Given the description of an element on the screen output the (x, y) to click on. 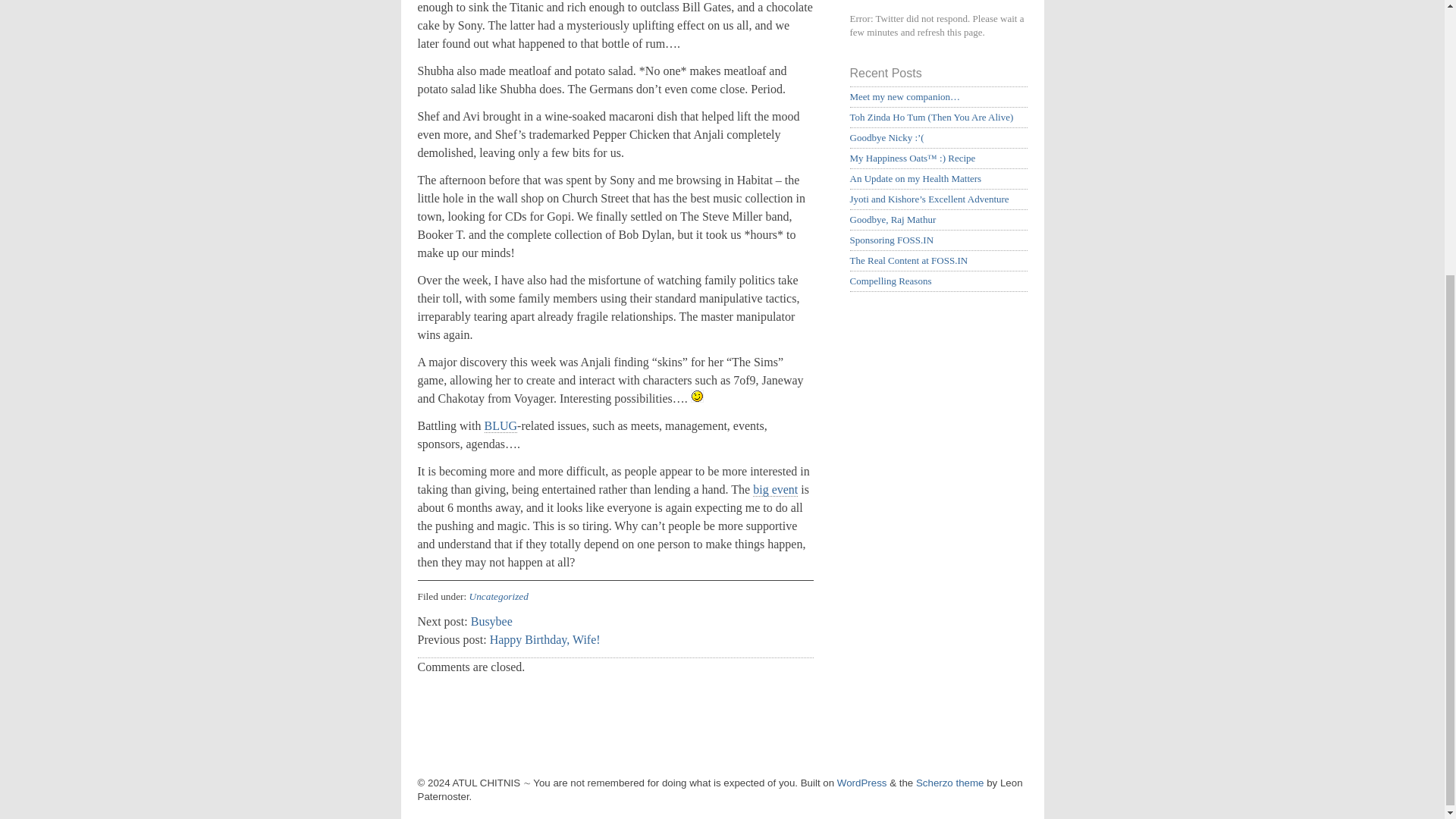
Sponsoring FOSS.IN (890, 239)
An Update on my Health Matters (914, 178)
Compelling Reasons (889, 280)
Goodbye, Raj Mathur (892, 219)
View all posts in Uncategorized (498, 595)
Goodbye, Raj Mathur (892, 219)
Compelling Reasons (889, 280)
The Real Content at FOSS.IN (908, 260)
big event (774, 489)
Scherzo theme (949, 782)
Happy Birthday, Wife! (544, 639)
Sponsoring FOSS.IN (890, 239)
Busybee (491, 621)
An Update on my Health Matters (914, 178)
The Real Content at FOSS.IN (908, 260)
